Given the description of an element on the screen output the (x, y) to click on. 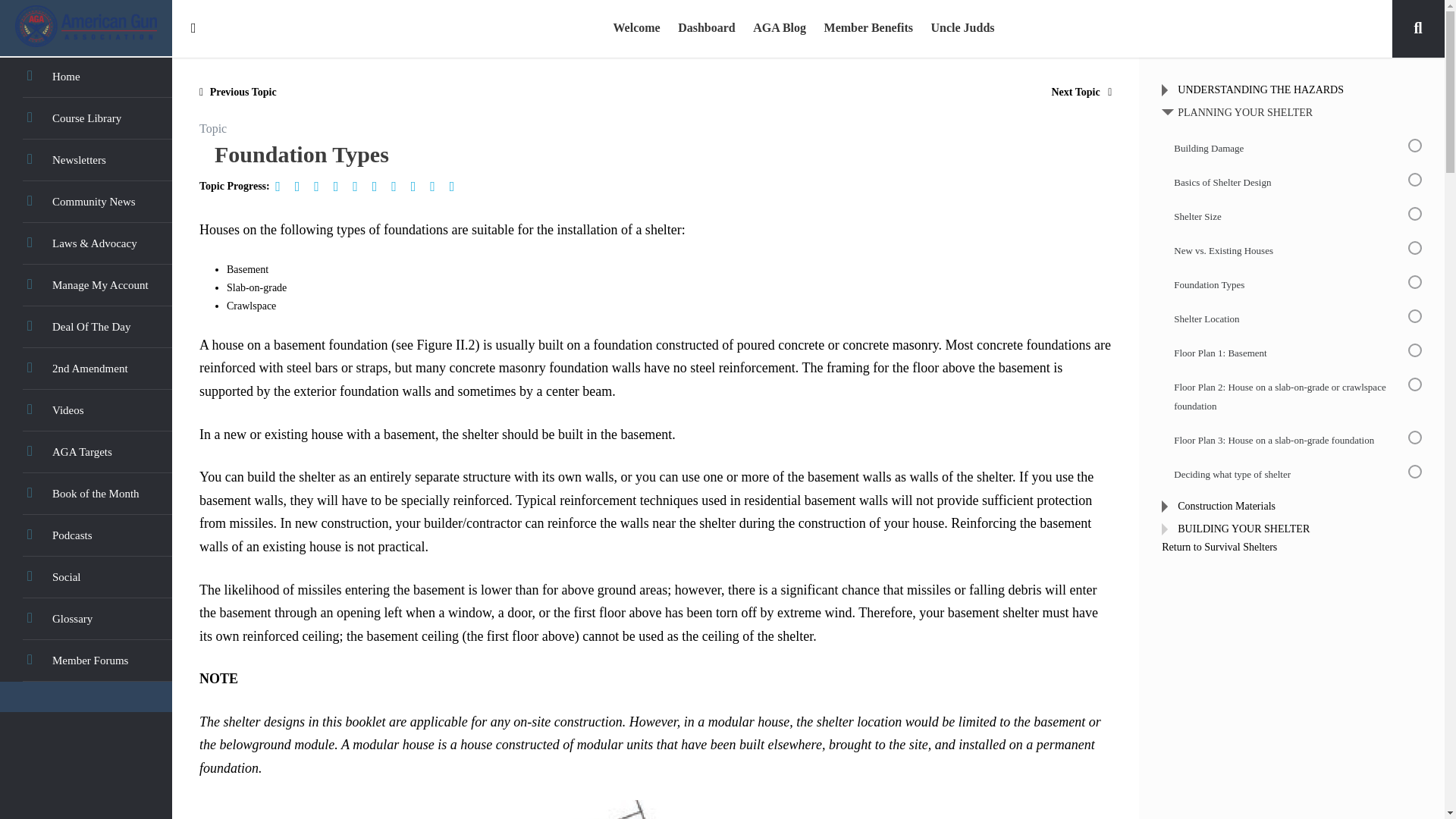
2nd Amendment (85, 368)
Foundation Types (359, 186)
Manage My Account (85, 285)
Podcasts (85, 535)
Course Library (85, 118)
Member Benefits (868, 29)
AGA Targets (85, 452)
Welcome (635, 29)
Glossary (85, 618)
Shelter Size (320, 186)
